Given the description of an element on the screen output the (x, y) to click on. 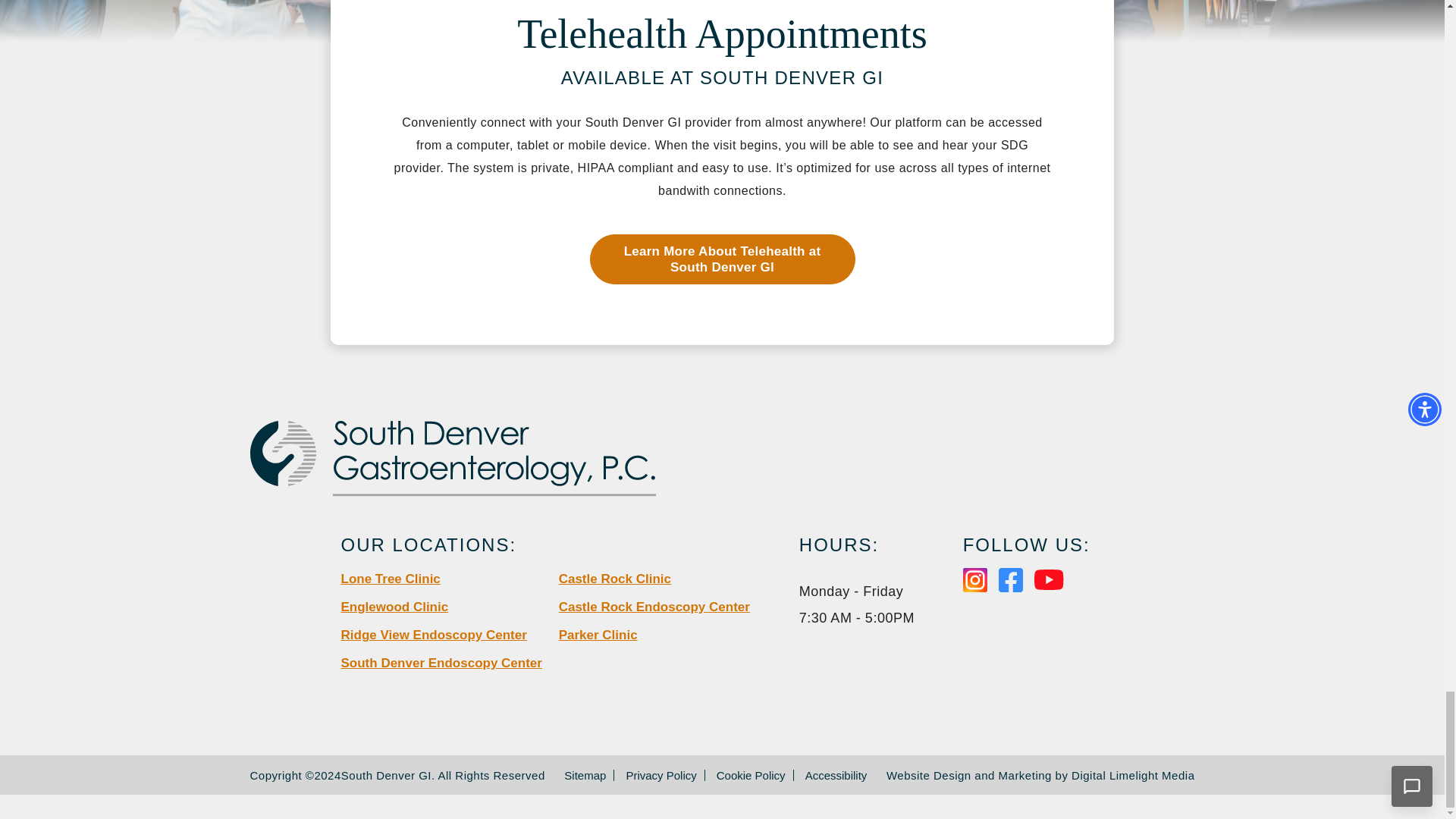
Privacy Policy  (660, 775)
Cookie Policy  (751, 775)
Facebook (1010, 578)
Youtube (1048, 578)
Instagram (974, 578)
